Given the description of an element on the screen output the (x, y) to click on. 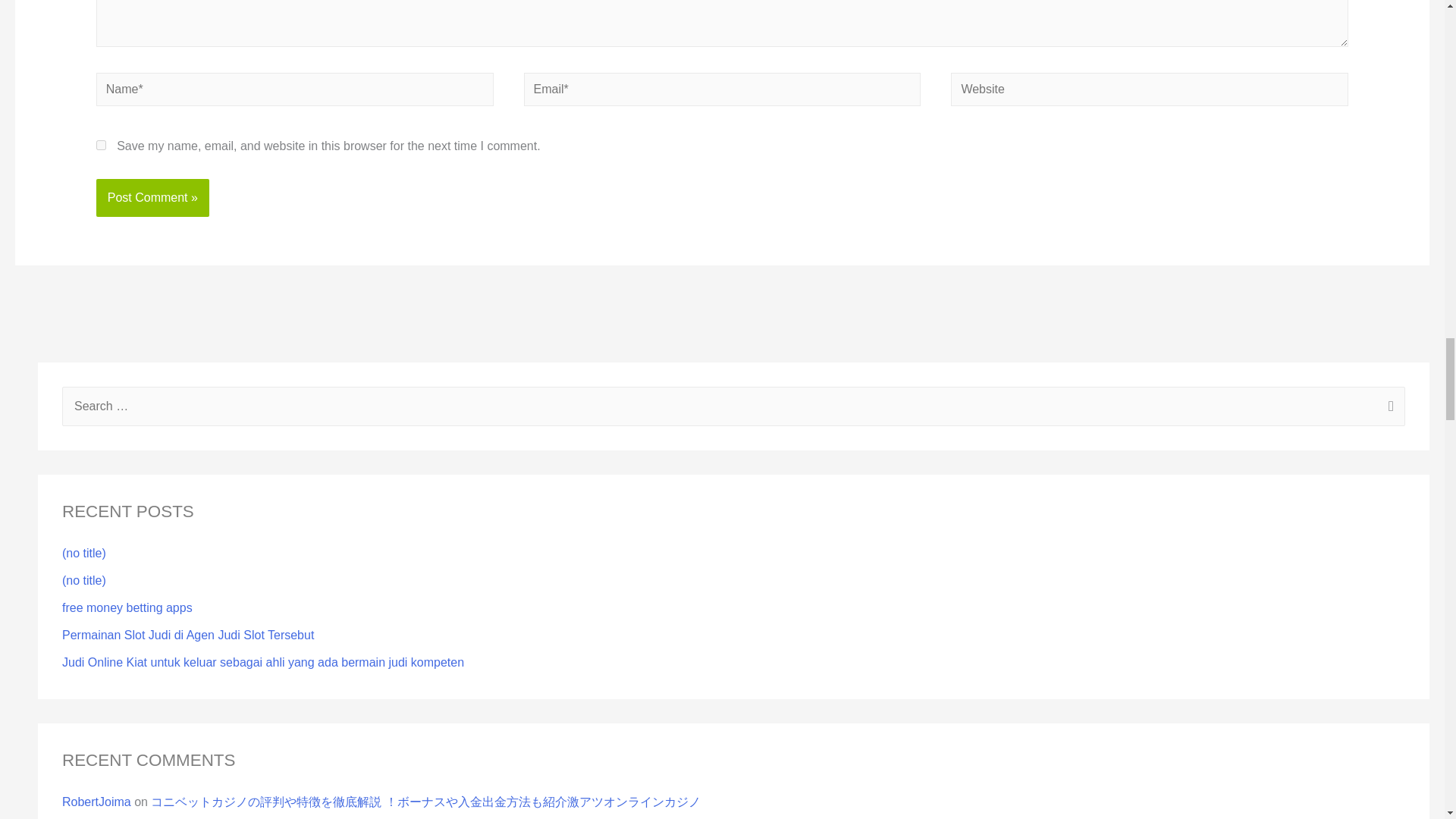
Permainan Slot Judi di Agen Judi Slot Tersebut (188, 634)
free money betting apps (127, 607)
RobertJoima (96, 801)
yes (101, 144)
